Given the description of an element on the screen output the (x, y) to click on. 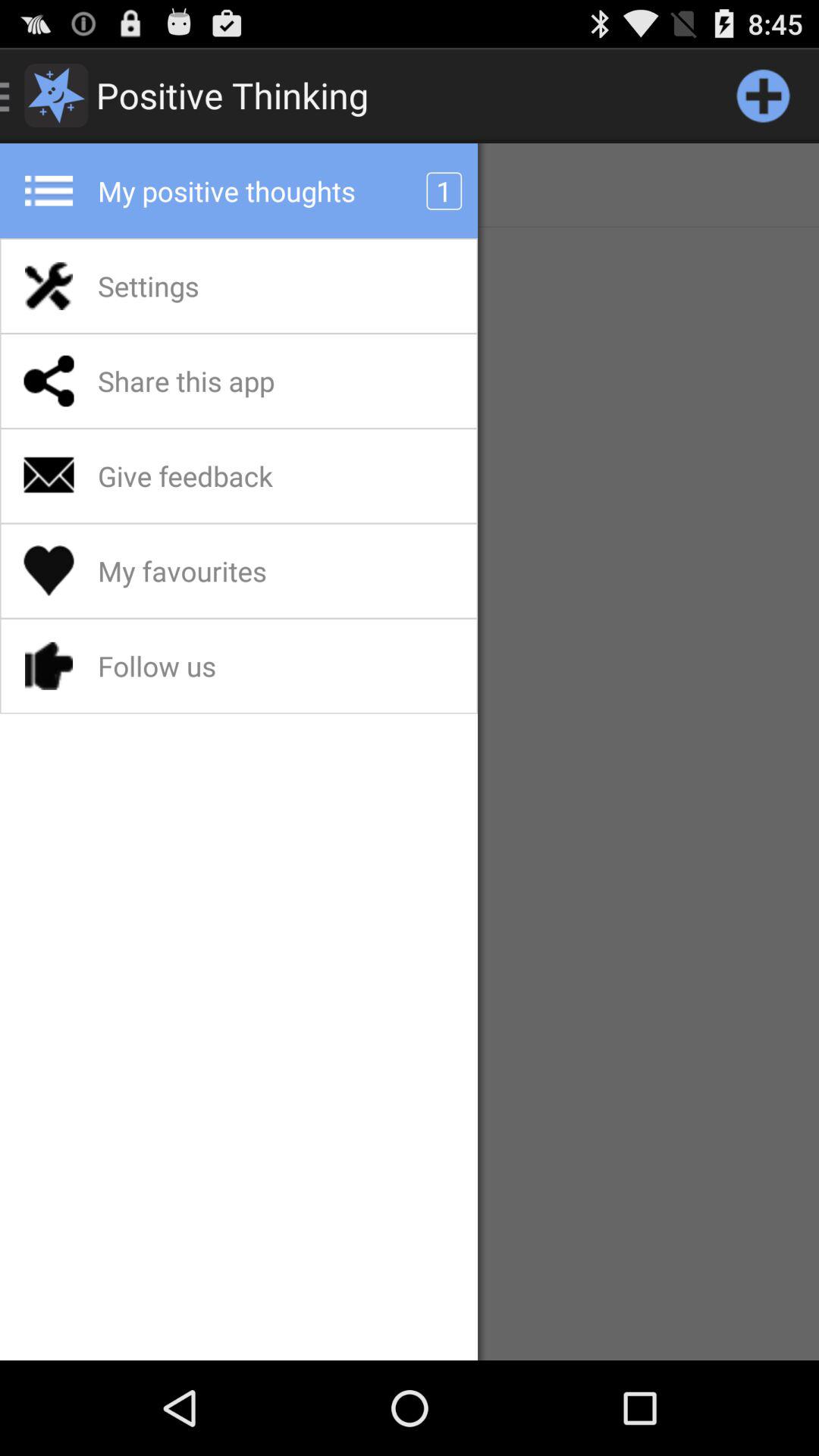
tap the item below share this app item (224, 475)
